Given the description of an element on the screen output the (x, y) to click on. 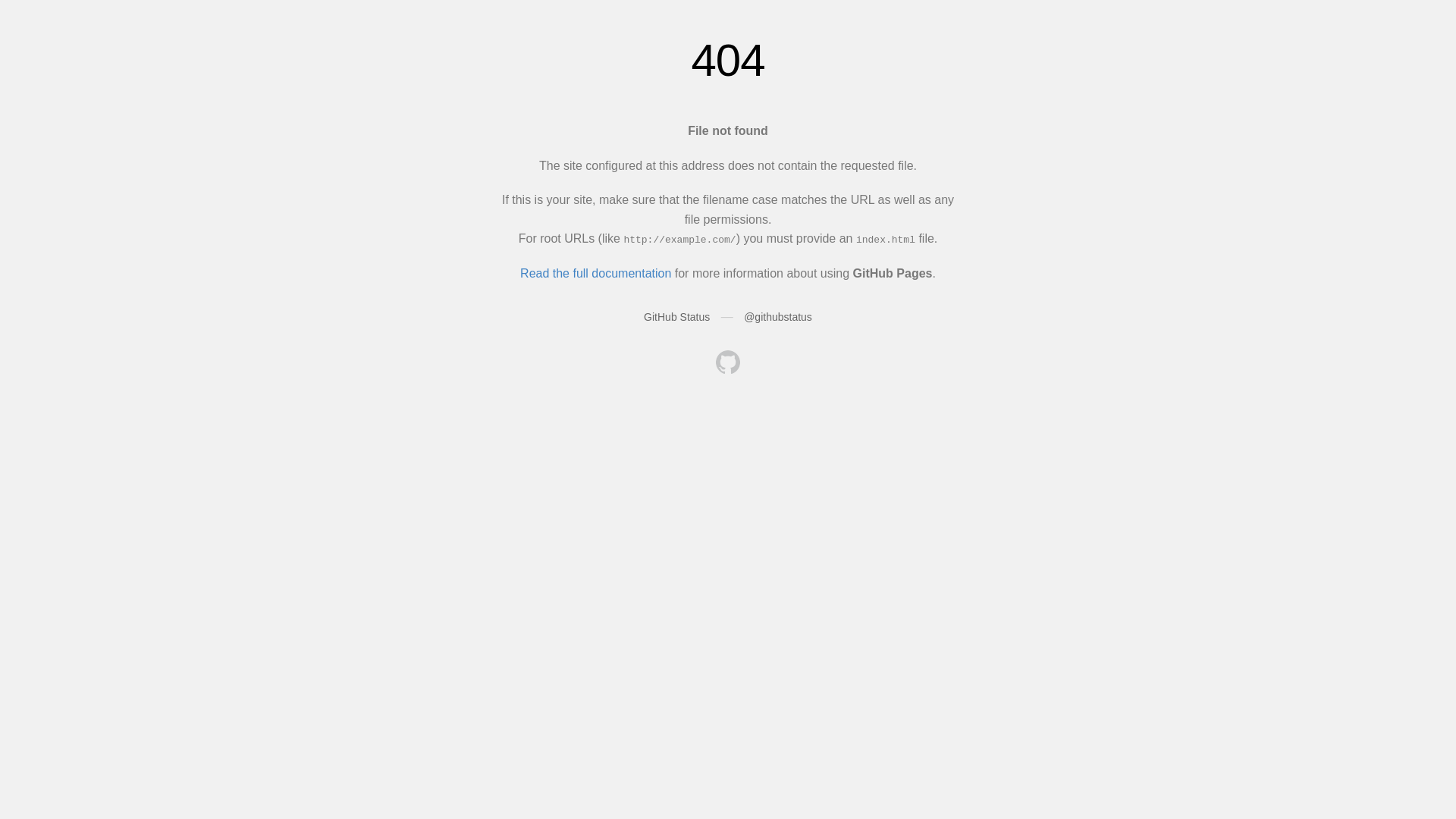
GitHub Status Element type: text (676, 316)
Read the full documentation Element type: text (595, 272)
@githubstatus Element type: text (777, 316)
